Given the description of an element on the screen output the (x, y) to click on. 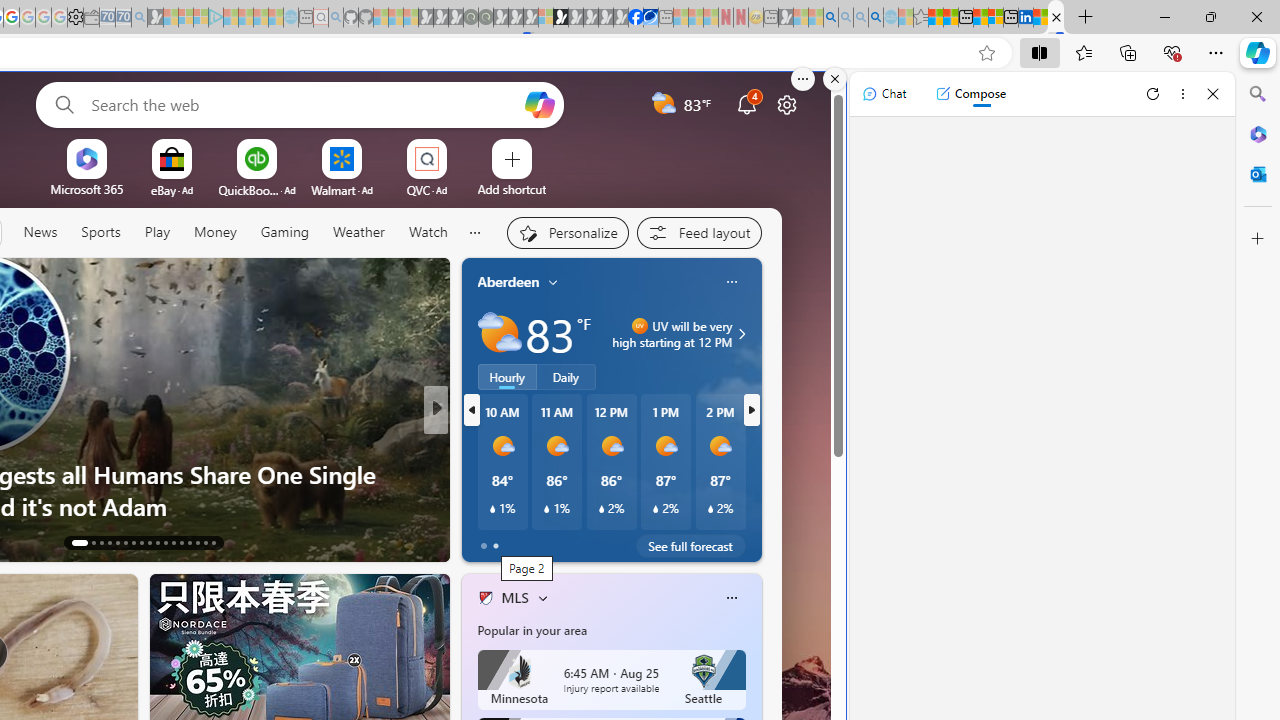
Hourly (507, 377)
View comments 6 Comment (568, 541)
next (751, 409)
207 Like (490, 541)
12 Lies You Were Told About Space (758, 506)
Aberdeen, Hong Kong SAR weather forecast | Microsoft Weather (950, 17)
Chat (884, 93)
Feed settings (698, 232)
Class: icon-img (731, 597)
2 Like (484, 541)
Sports (100, 232)
